Given the description of an element on the screen output the (x, y) to click on. 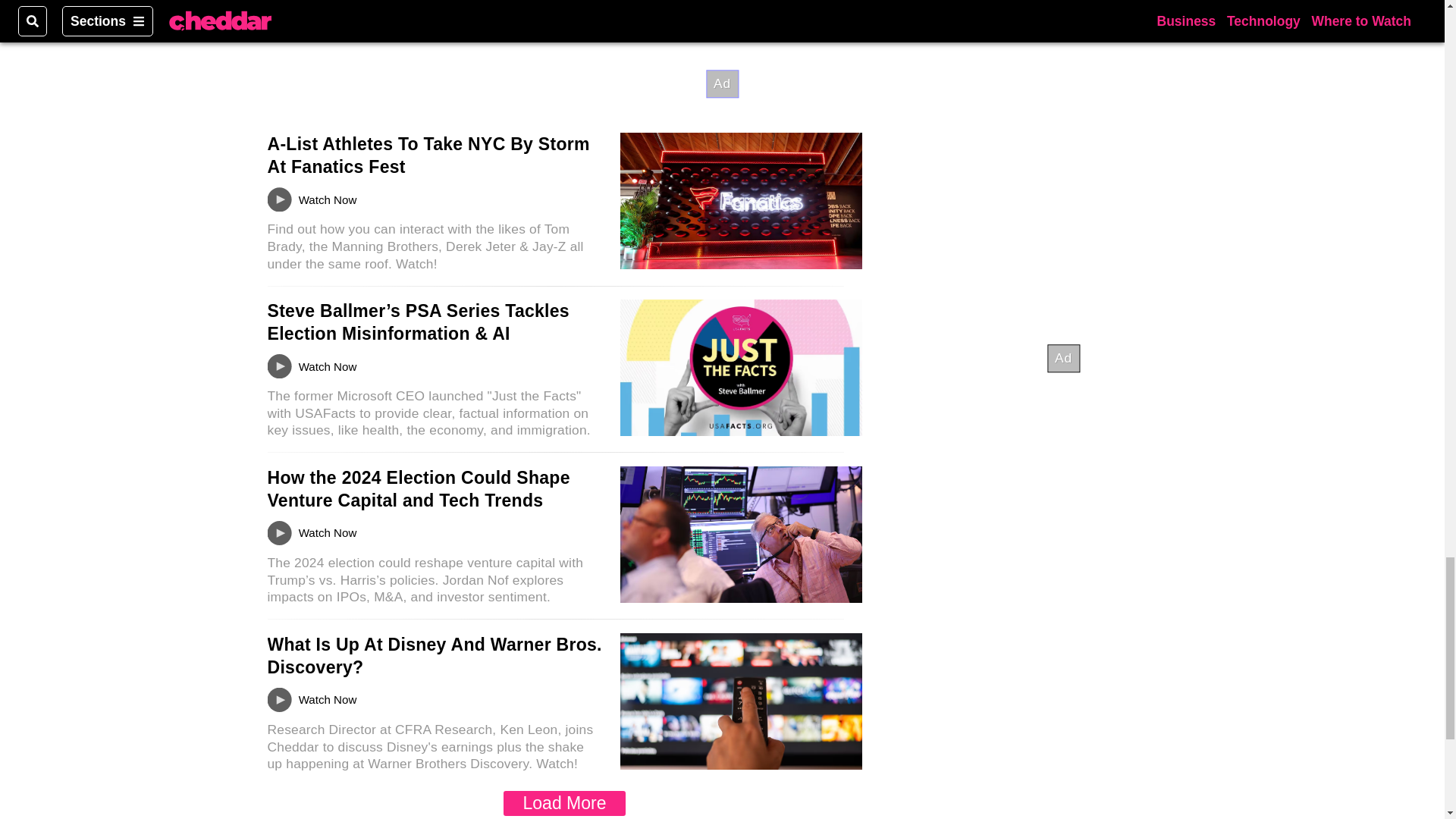
Load More (564, 803)
What Is Up At Disney And Warner Bros. Discovery? (433, 655)
A-List Athletes To Take NYC By Storm At Fanatics Fest (427, 155)
